Given the description of an element on the screen output the (x, y) to click on. 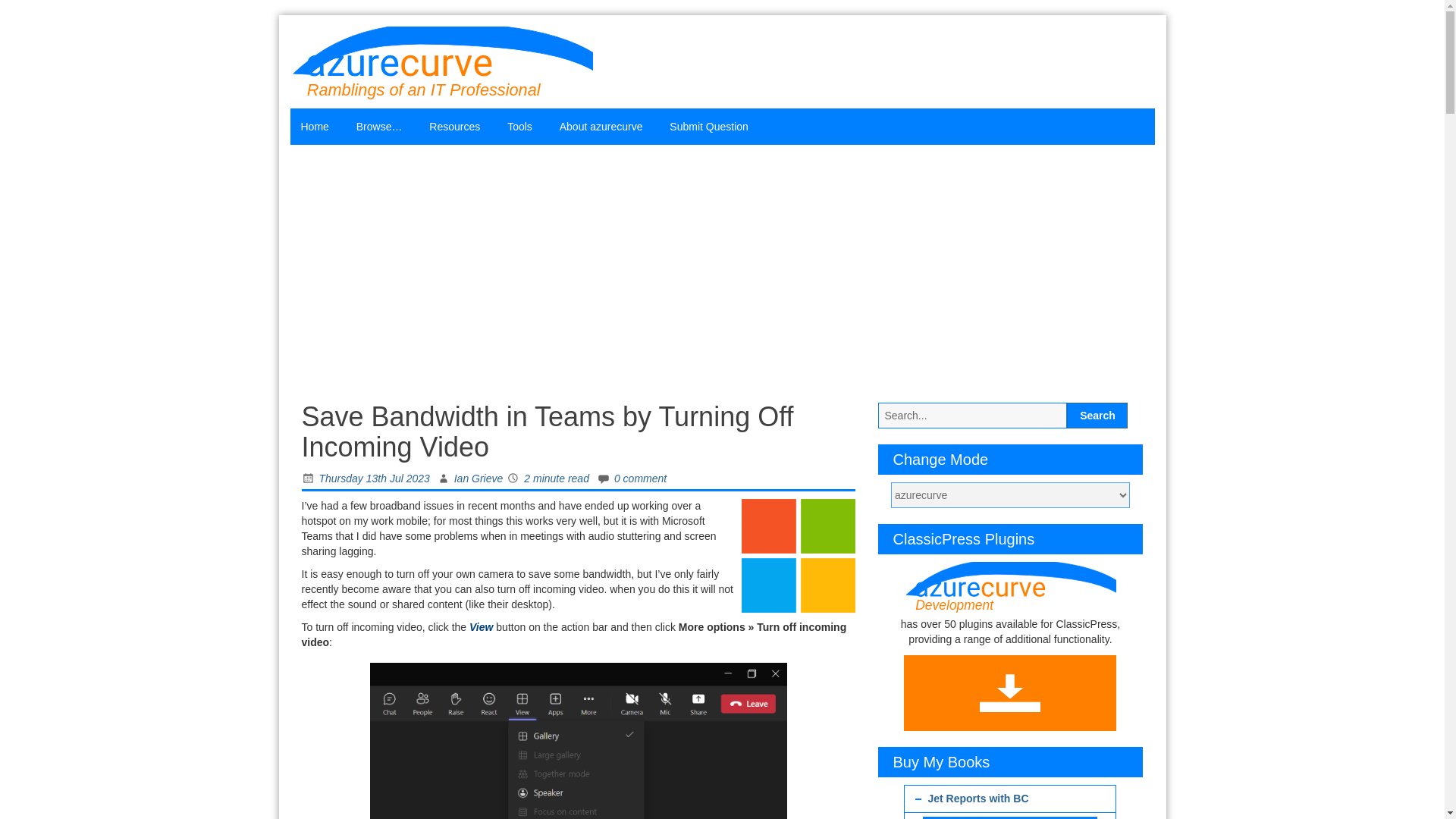
Home (315, 126)
Search (1096, 415)
Search (1096, 415)
Search for: (972, 415)
Resources (456, 126)
Jet Reports with Microsoft Dynamics 365 Business Central (1010, 817)
